Given the description of an element on the screen output the (x, y) to click on. 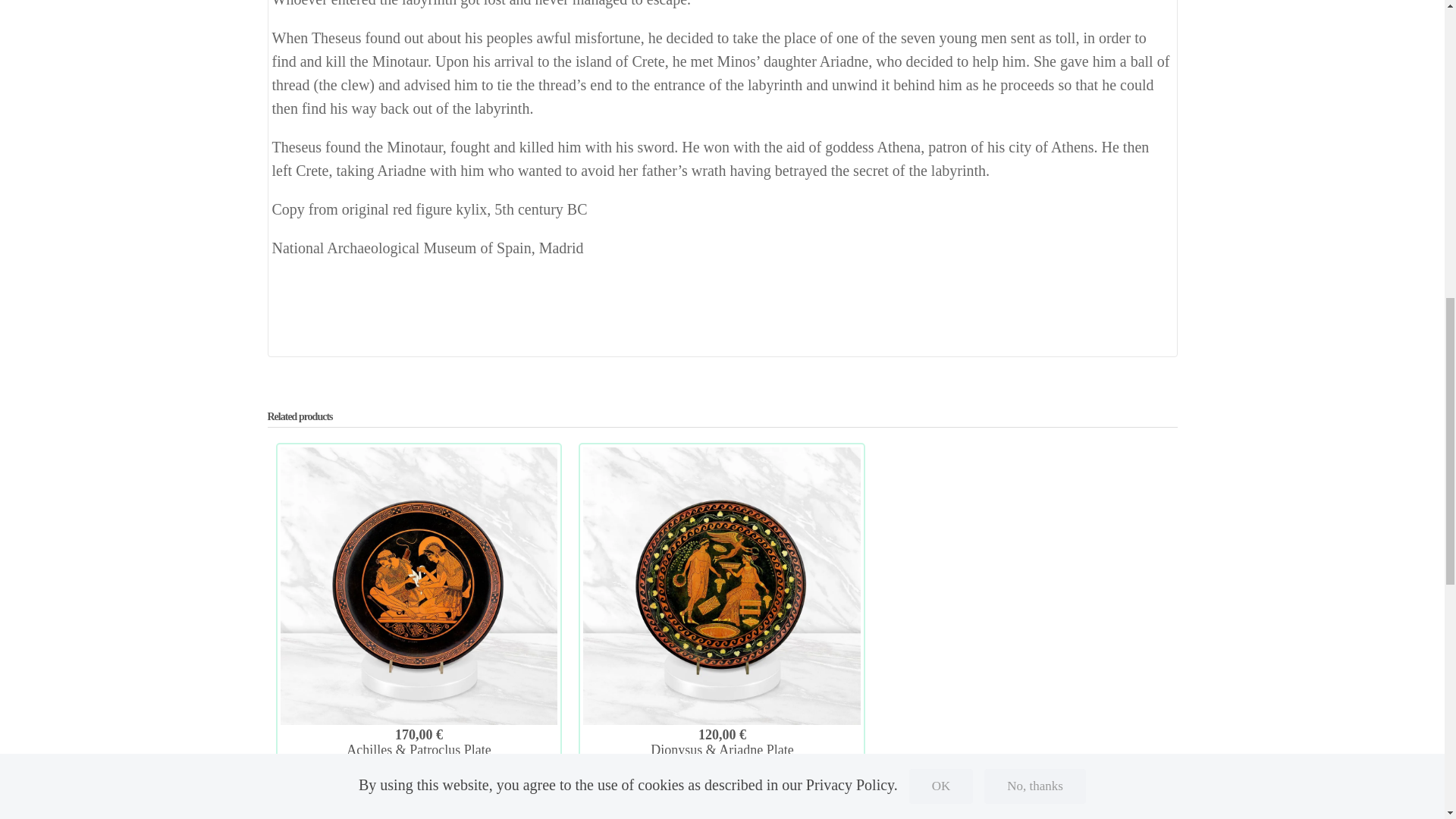
Add to cart (418, 805)
Add to cart (721, 805)
